Given the description of an element on the screen output the (x, y) to click on. 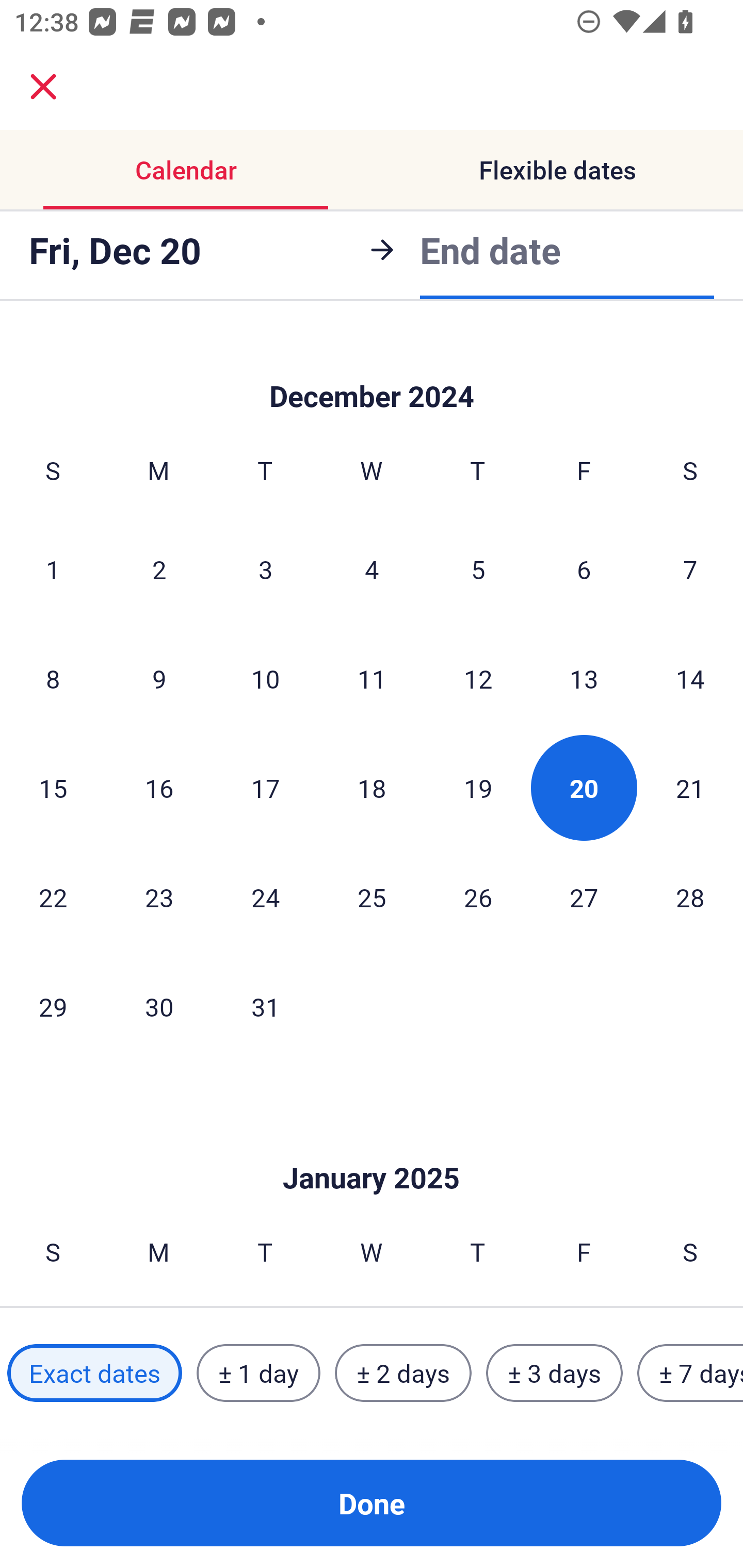
close. (43, 86)
Flexible dates (557, 170)
End date (489, 249)
Skip to Done (371, 369)
1 Sunday, December 1, 2024 (53, 568)
2 Monday, December 2, 2024 (159, 568)
3 Tuesday, December 3, 2024 (265, 568)
4 Wednesday, December 4, 2024 (371, 568)
5 Thursday, December 5, 2024 (477, 568)
6 Friday, December 6, 2024 (584, 568)
7 Saturday, December 7, 2024 (690, 568)
8 Sunday, December 8, 2024 (53, 677)
9 Monday, December 9, 2024 (159, 677)
10 Tuesday, December 10, 2024 (265, 677)
11 Wednesday, December 11, 2024 (371, 677)
12 Thursday, December 12, 2024 (477, 677)
13 Friday, December 13, 2024 (584, 677)
14 Saturday, December 14, 2024 (690, 677)
15 Sunday, December 15, 2024 (53, 787)
16 Monday, December 16, 2024 (159, 787)
17 Tuesday, December 17, 2024 (265, 787)
18 Wednesday, December 18, 2024 (371, 787)
19 Thursday, December 19, 2024 (477, 787)
21 Saturday, December 21, 2024 (690, 787)
22 Sunday, December 22, 2024 (53, 896)
23 Monday, December 23, 2024 (159, 896)
24 Tuesday, December 24, 2024 (265, 896)
25 Wednesday, December 25, 2024 (371, 896)
26 Thursday, December 26, 2024 (477, 896)
27 Friday, December 27, 2024 (584, 896)
28 Saturday, December 28, 2024 (690, 896)
29 Sunday, December 29, 2024 (53, 1006)
30 Monday, December 30, 2024 (159, 1006)
31 Tuesday, December 31, 2024 (265, 1006)
Skip to Done (371, 1146)
Exact dates (94, 1372)
± 1 day (258, 1372)
± 2 days (403, 1372)
± 3 days (553, 1372)
± 7 days (690, 1372)
Done (371, 1502)
